Given the description of an element on the screen output the (x, y) to click on. 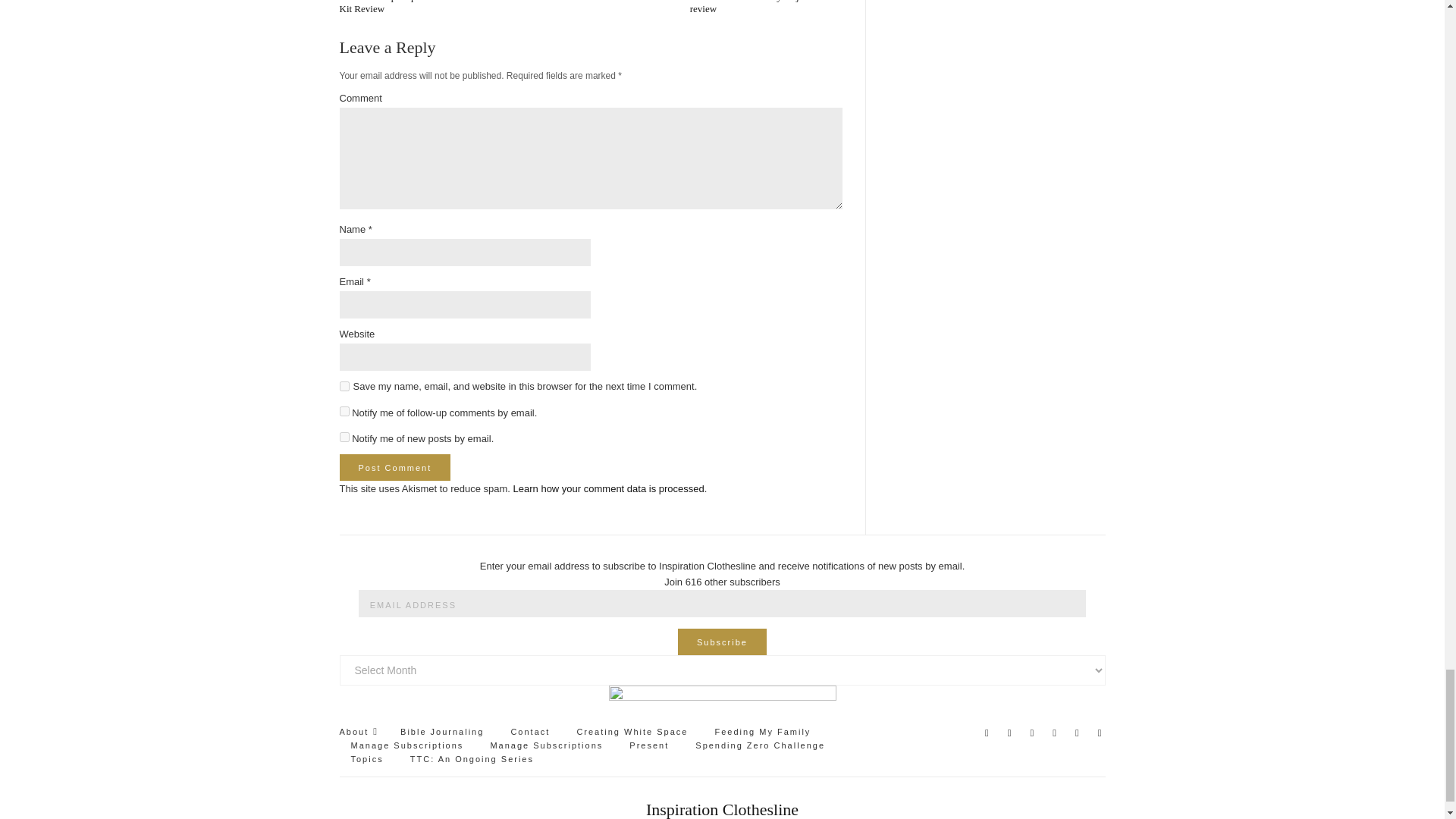
subscribe (344, 437)
subscribe (344, 411)
yes (344, 386)
Post Comment (395, 467)
